Given the description of an element on the screen output the (x, y) to click on. 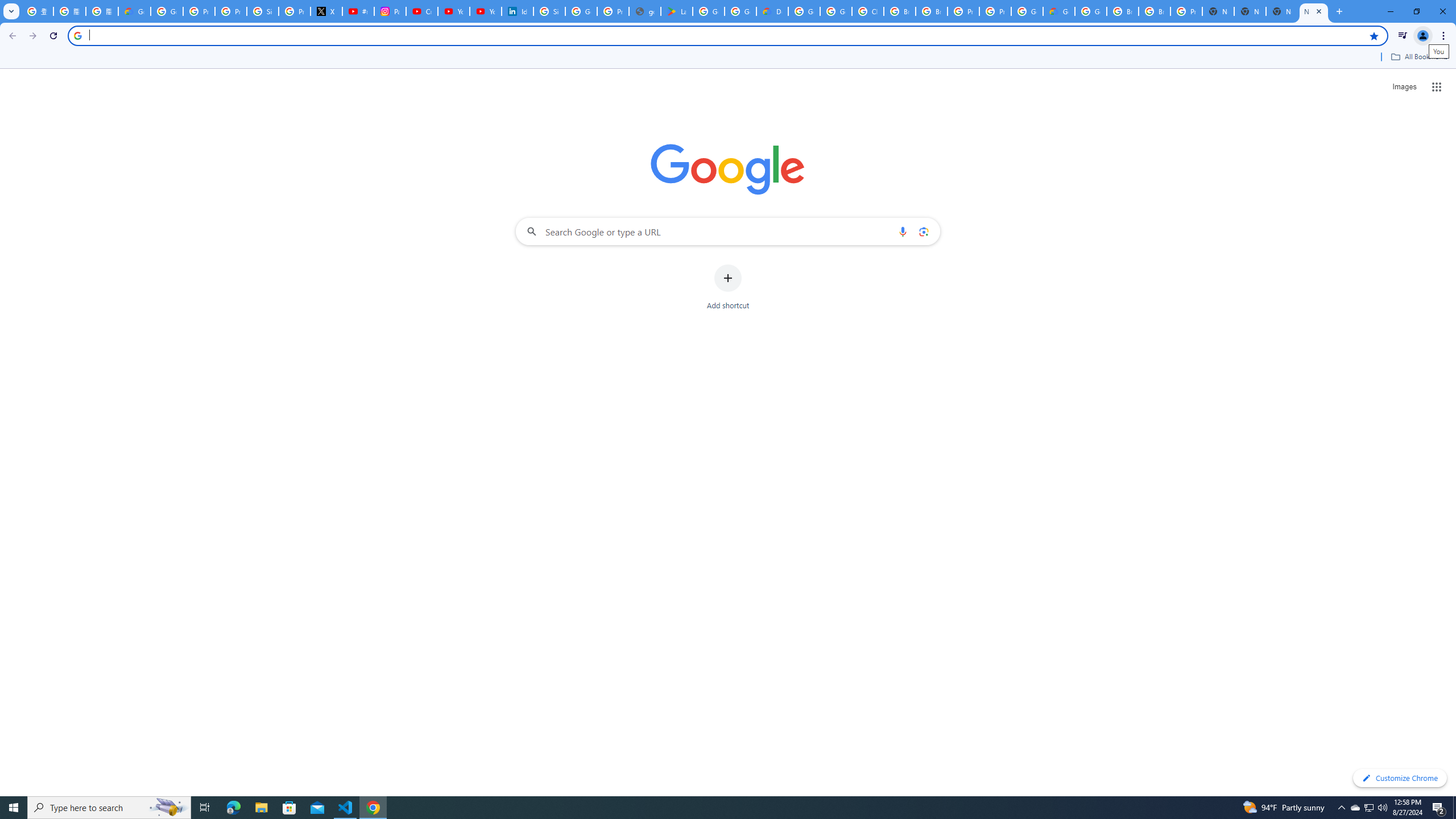
Search for Images  (1403, 87)
Browse Chrome as a guest - Computer - Google Chrome Help (931, 11)
X (326, 11)
Google Cloud Estimate Summary (1059, 11)
Google Cloud Platform (1091, 11)
Search Google or type a URL (727, 230)
